Given the description of an element on the screen output the (x, y) to click on. 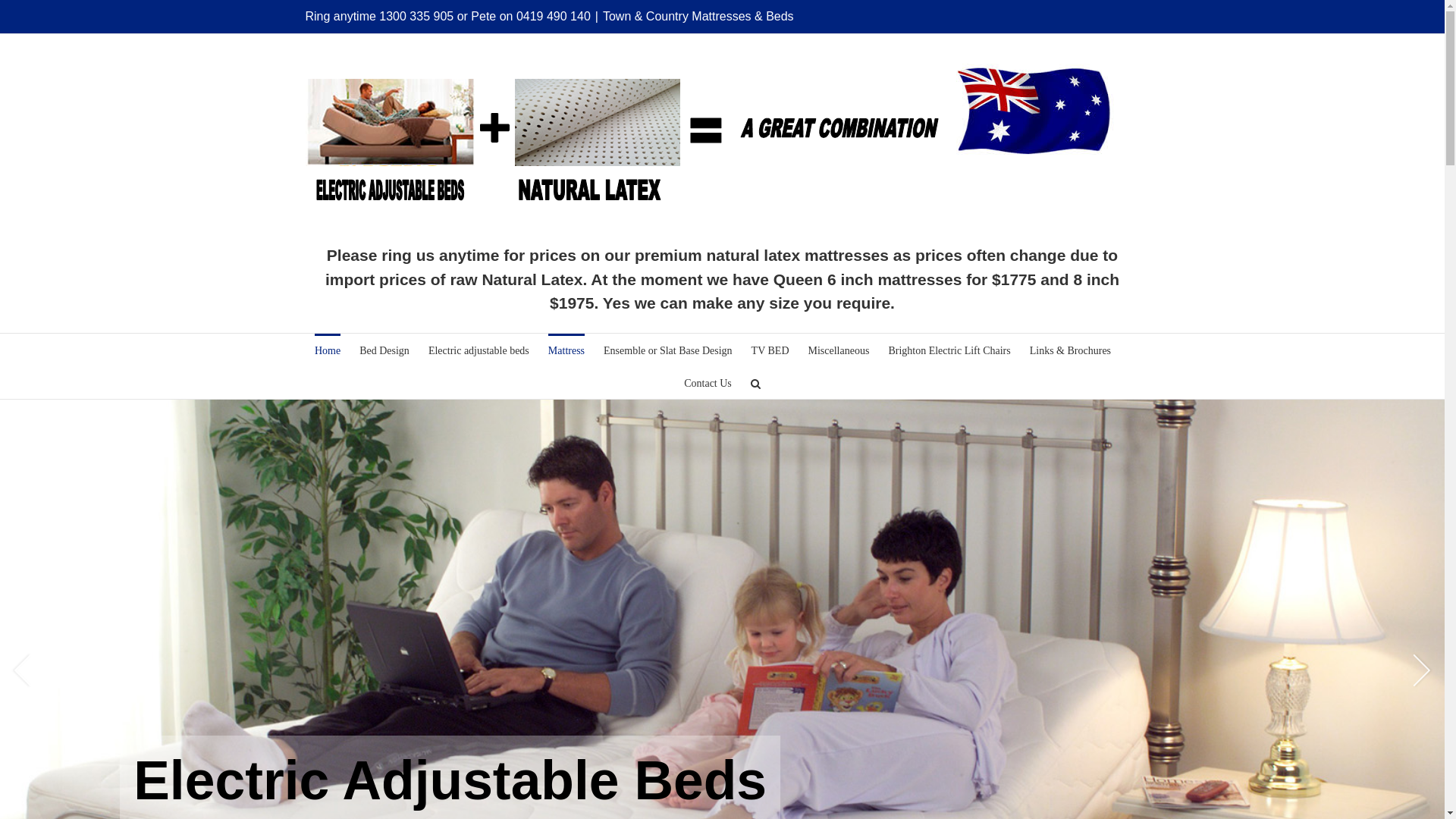
Brighton Electric Lift Chairs Element type: text (949, 349)
Links & Brochures Element type: text (1069, 349)
Bed Design Element type: text (384, 349)
Miscellaneous Element type: text (838, 349)
Town & Country Mattresses & Beds Element type: text (697, 15)
Ensemble or Slat Base Design Element type: text (667, 349)
TV BED Element type: text (770, 349)
Mattress Element type: text (566, 349)
Contact Us Element type: text (707, 382)
Electric adjustable beds Element type: text (478, 349)
Home Element type: text (327, 349)
